Given the description of an element on the screen output the (x, y) to click on. 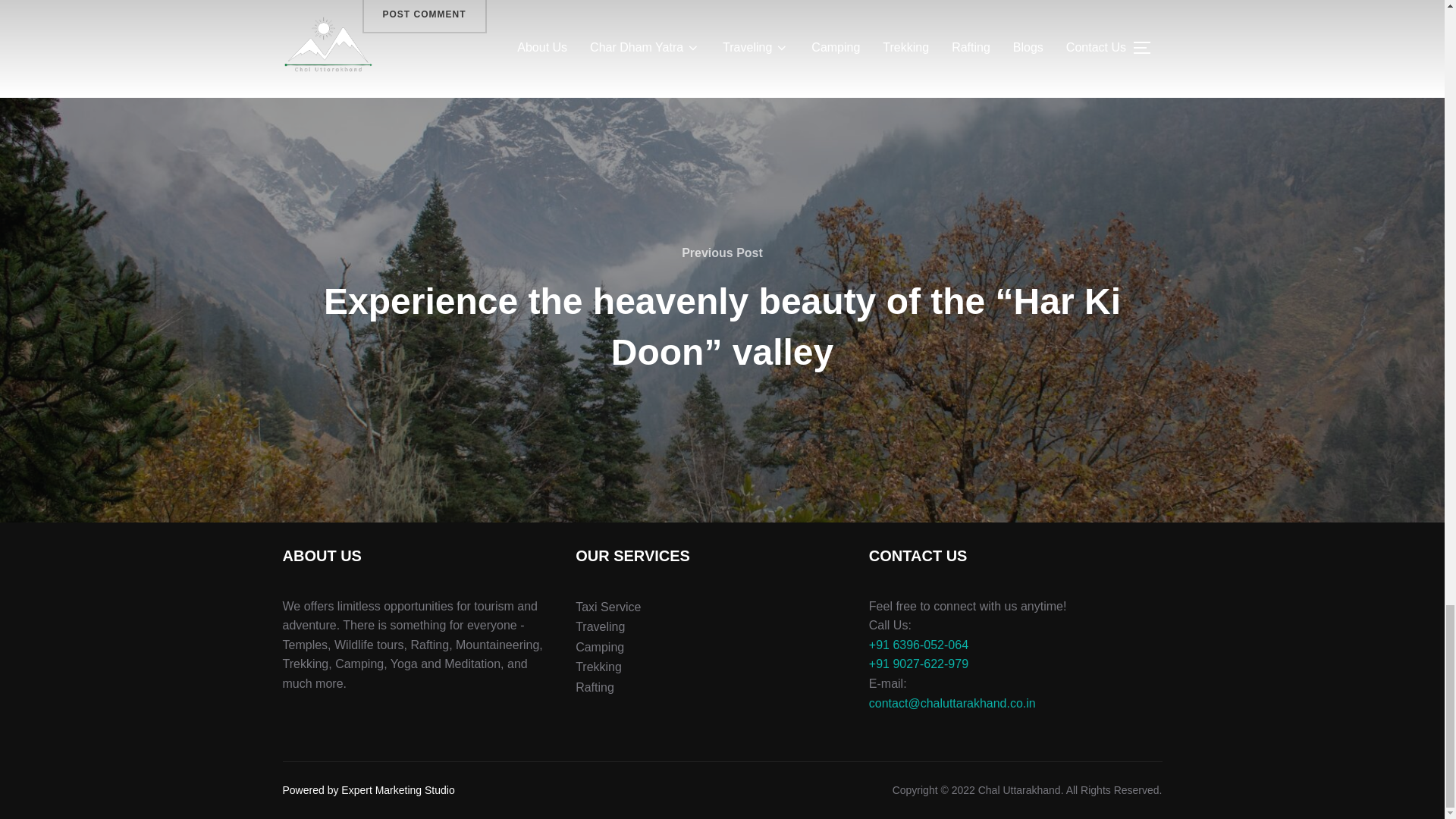
Post Comment (424, 17)
